Given the description of an element on the screen output the (x, y) to click on. 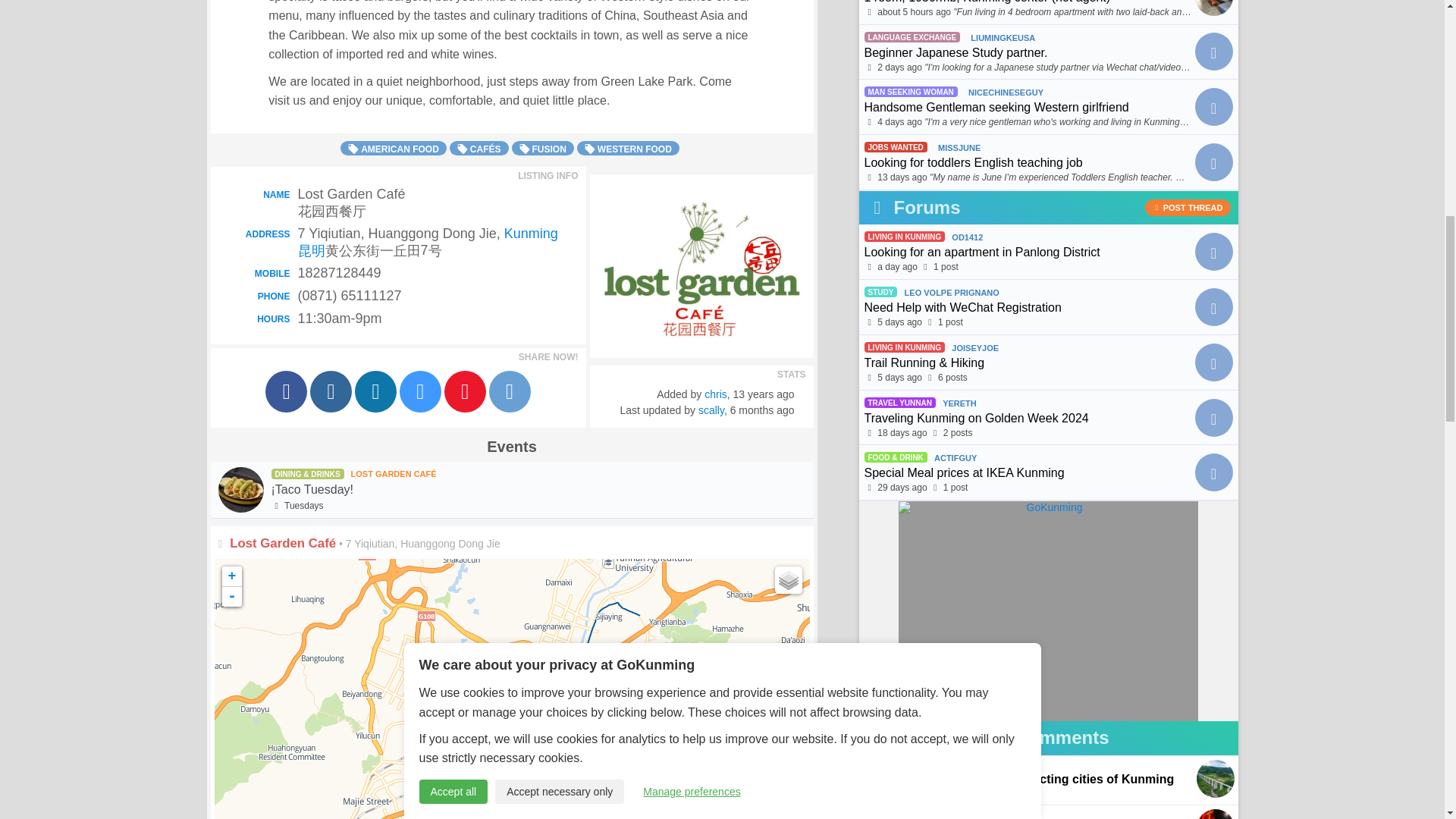
Layers (788, 579)
Zoom out (231, 596)
January 27, 2024 (762, 410)
July 19, 2011 (763, 394)
Zoom in (231, 576)
